Given the description of an element on the screen output the (x, y) to click on. 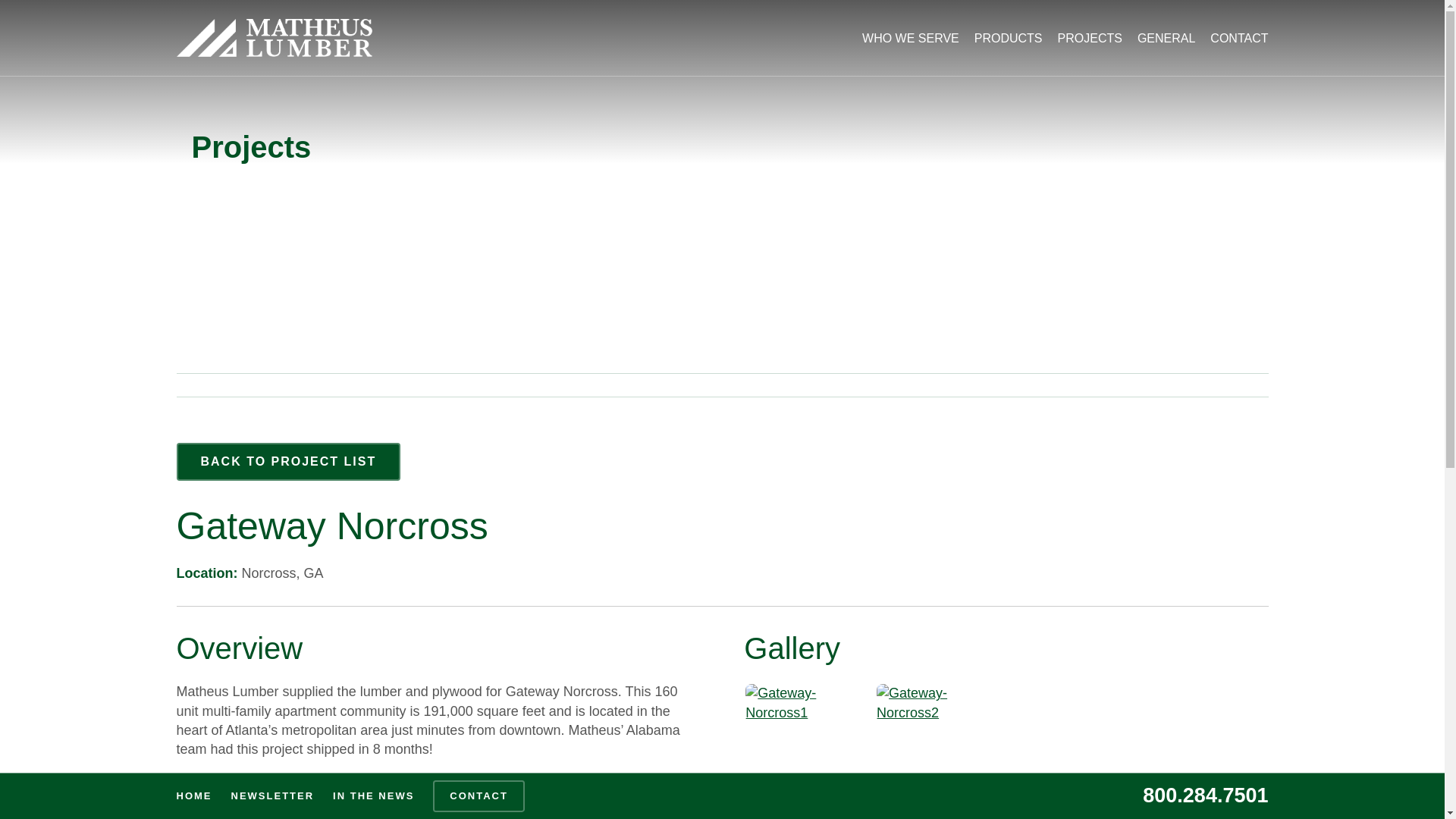
800.284.7501 (1205, 794)
WHO WE SERVE (903, 38)
GENERAL (1158, 38)
HOME (193, 796)
IN THE NEWS (373, 796)
NEWSLETTER (272, 796)
BACK TO PROJECT LIST (288, 461)
PRODUCTS (1000, 38)
CONTACT (1231, 38)
CONTACT (478, 796)
PROJECTS (1082, 38)
